Given the description of an element on the screen output the (x, y) to click on. 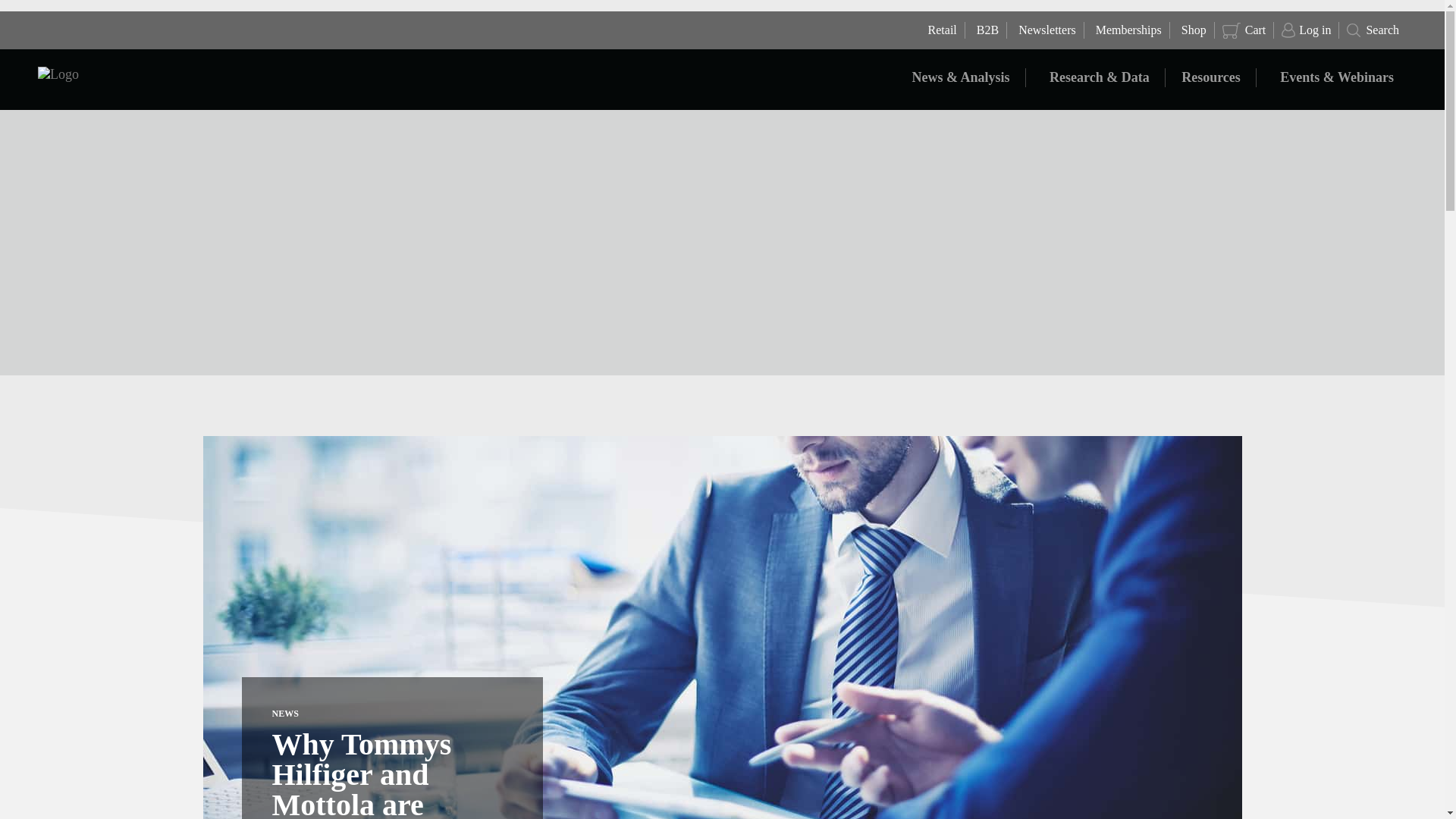
Newsletters (1044, 30)
Cart (1244, 30)
Retail (940, 30)
Log in (1305, 30)
Shop (1192, 30)
B2B (985, 30)
Memberships (1126, 30)
Search (1372, 30)
